Given the description of an element on the screen output the (x, y) to click on. 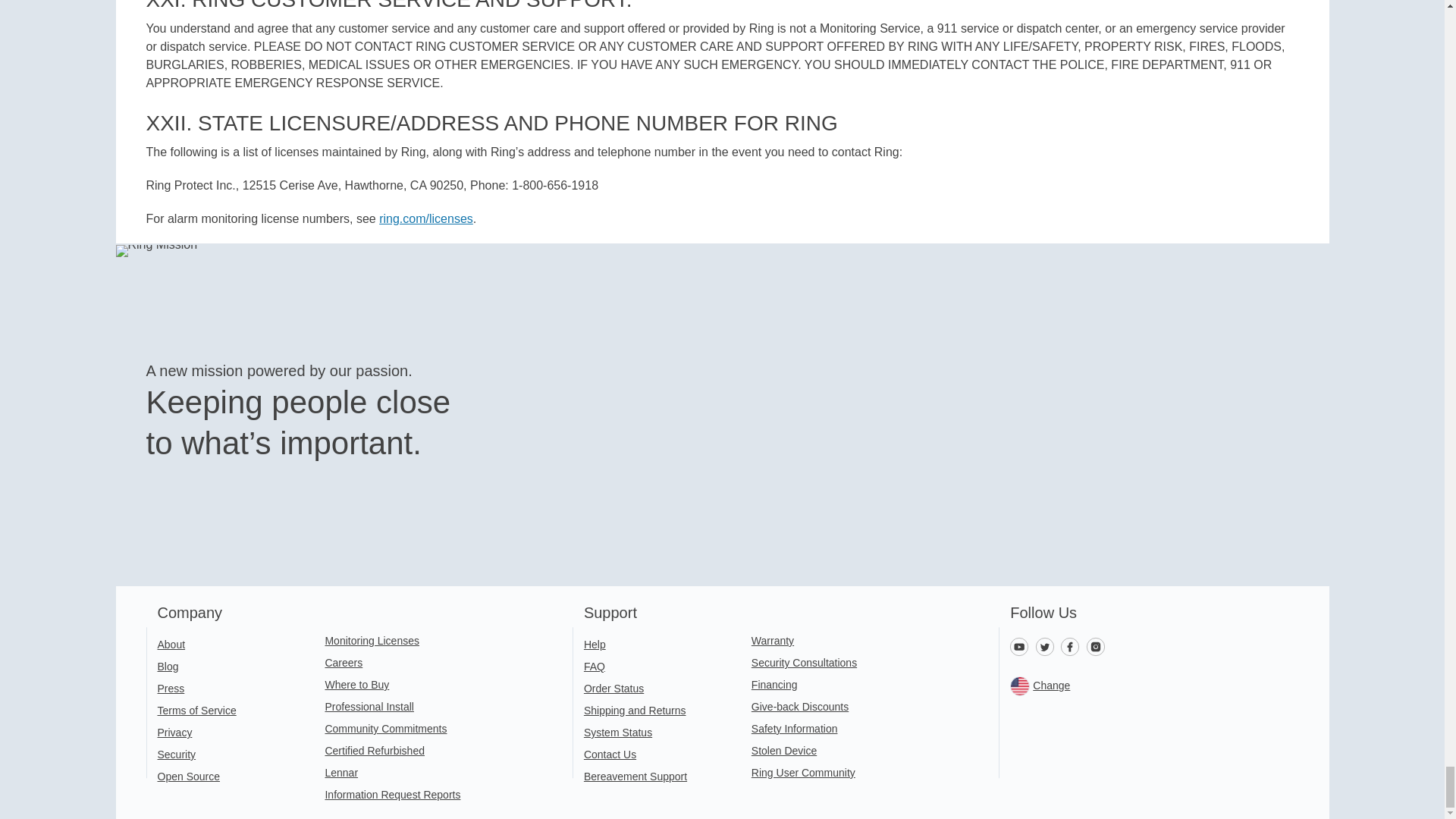
Country Selector (1142, 685)
Ring Team on YouTube (1022, 645)
United States flag (1019, 686)
Ring Team on Facebook (1073, 645)
Ring Team on Instagram (1097, 645)
Ring Team on Twitter (1048, 645)
